Given the description of an element on the screen output the (x, y) to click on. 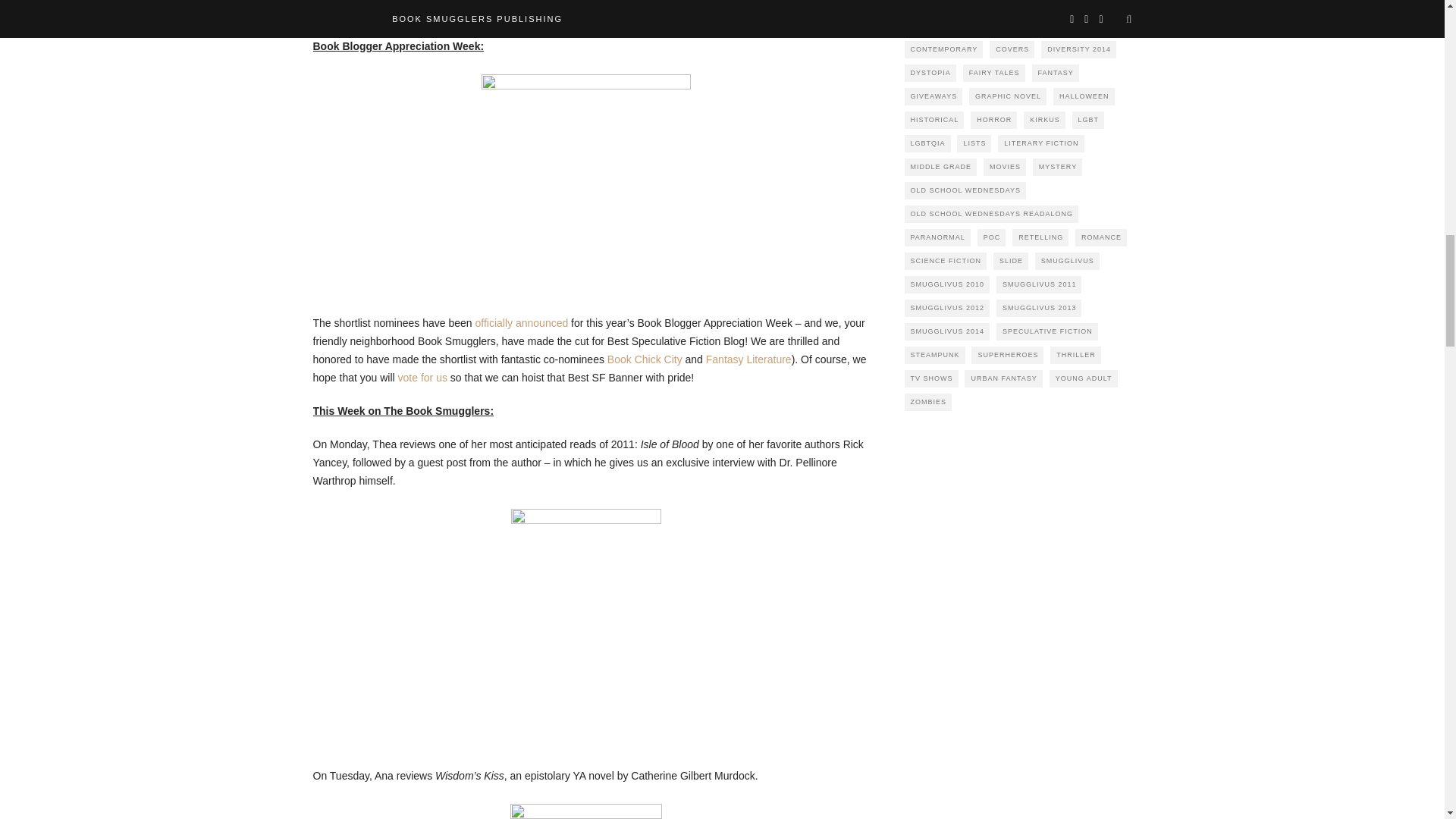
BBAW Best SF Blog (585, 178)
officially announced (522, 322)
vote for us (421, 377)
Wisdom's Kiss (585, 811)
Fantasy Literature (749, 358)
Book Chick City (644, 358)
